Given the description of an element on the screen output the (x, y) to click on. 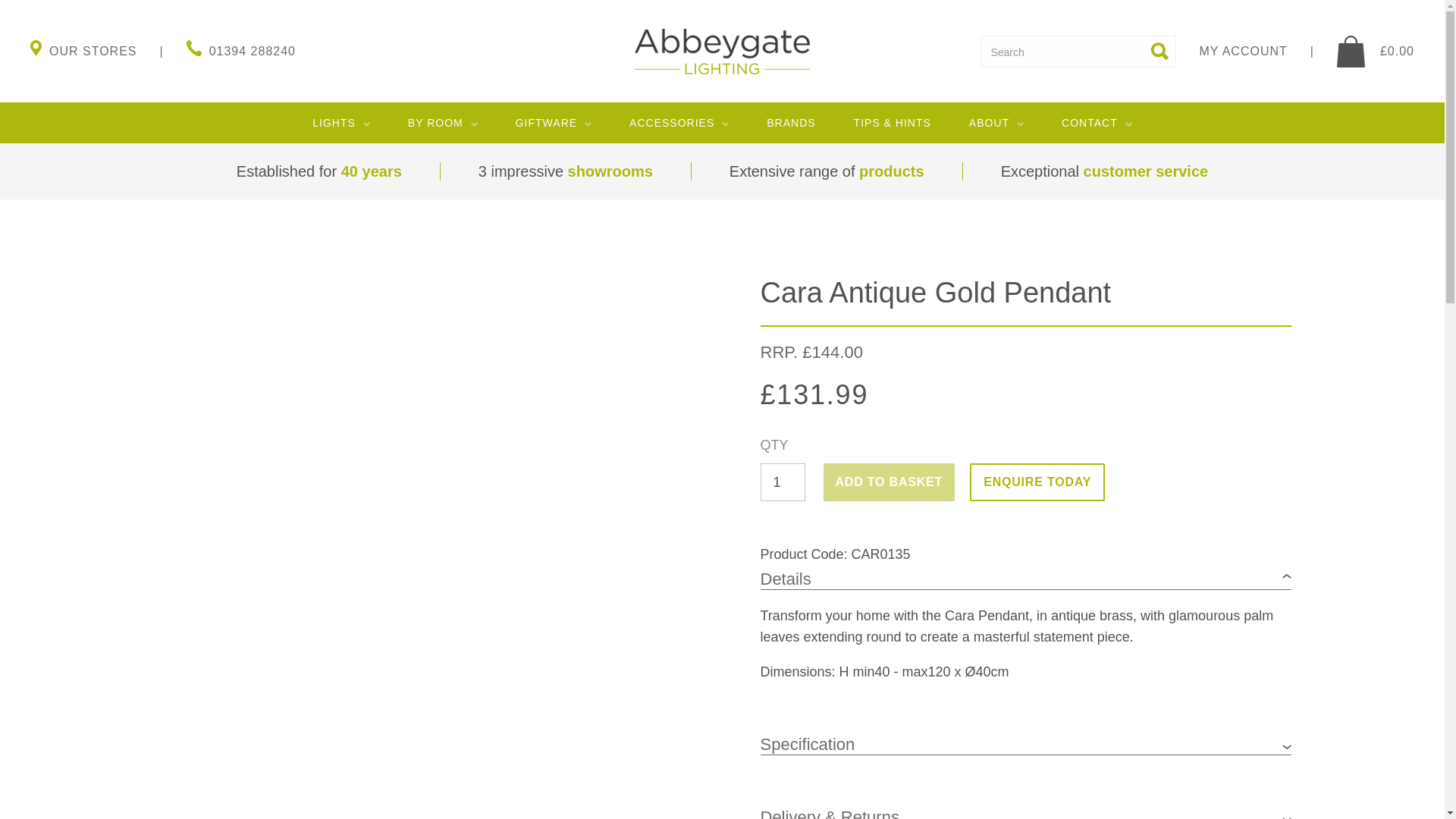
LIGHTS (341, 122)
01394 288240 (240, 50)
1 (782, 482)
ABBEYGATE LIGHTING (721, 51)
MY ACCOUNT (1267, 50)
OUR STORES (108, 50)
GIFTWARE (553, 122)
BY ROOM (442, 122)
